Given the description of an element on the screen output the (x, y) to click on. 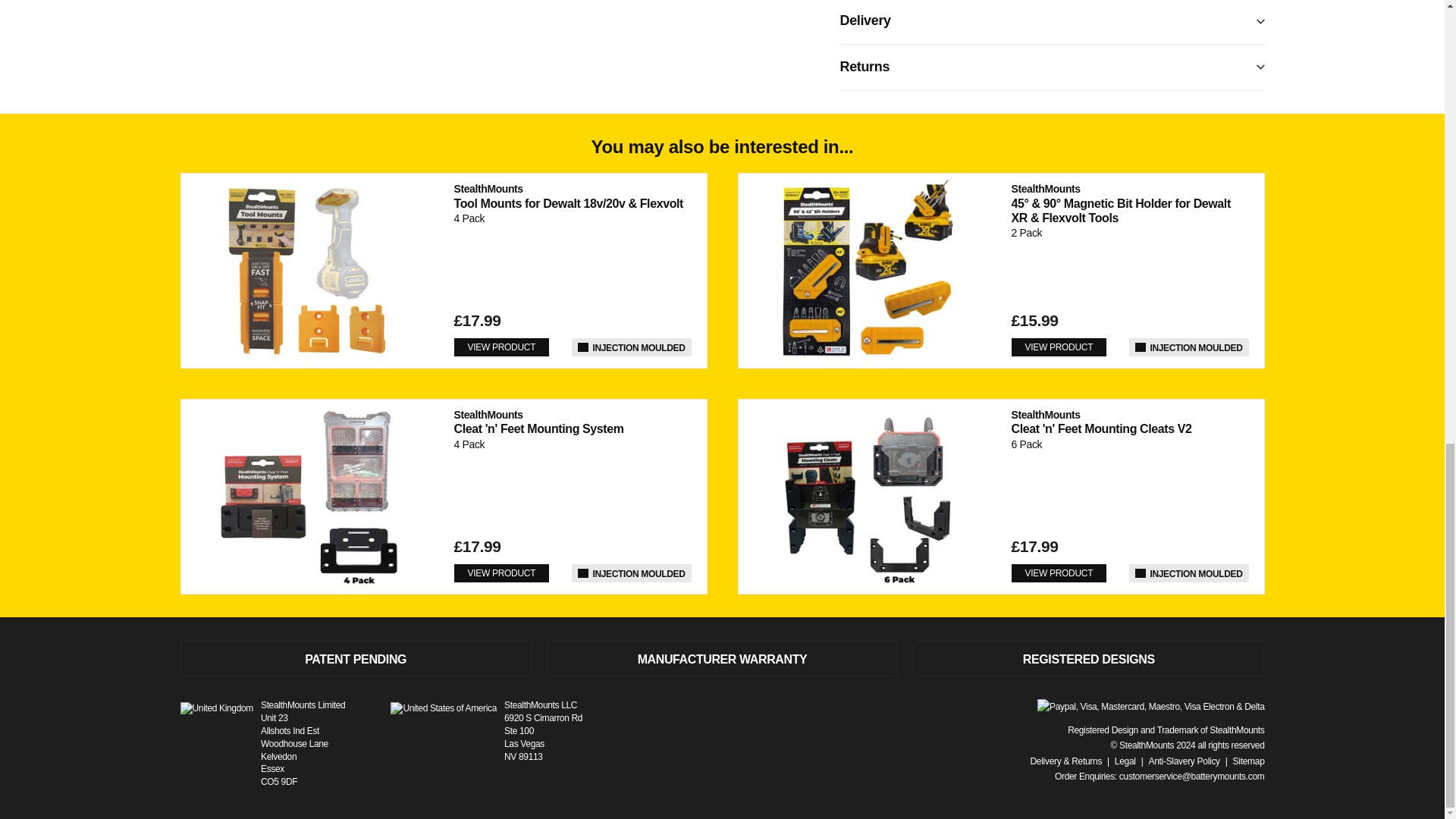
StealthMounts Cleat 'n' Feet Mounting System (537, 421)
StealthMounts Cleat 'n' Feet Mounting Cleats V2 (1101, 421)
StealthMounts Cleat 'n' Feet Mounting System (309, 496)
StealthMounts Cleat 'n' Feet Mounting Cleats V2 (866, 496)
VIEW PRODUCT (500, 346)
